Given the description of an element on the screen output the (x, y) to click on. 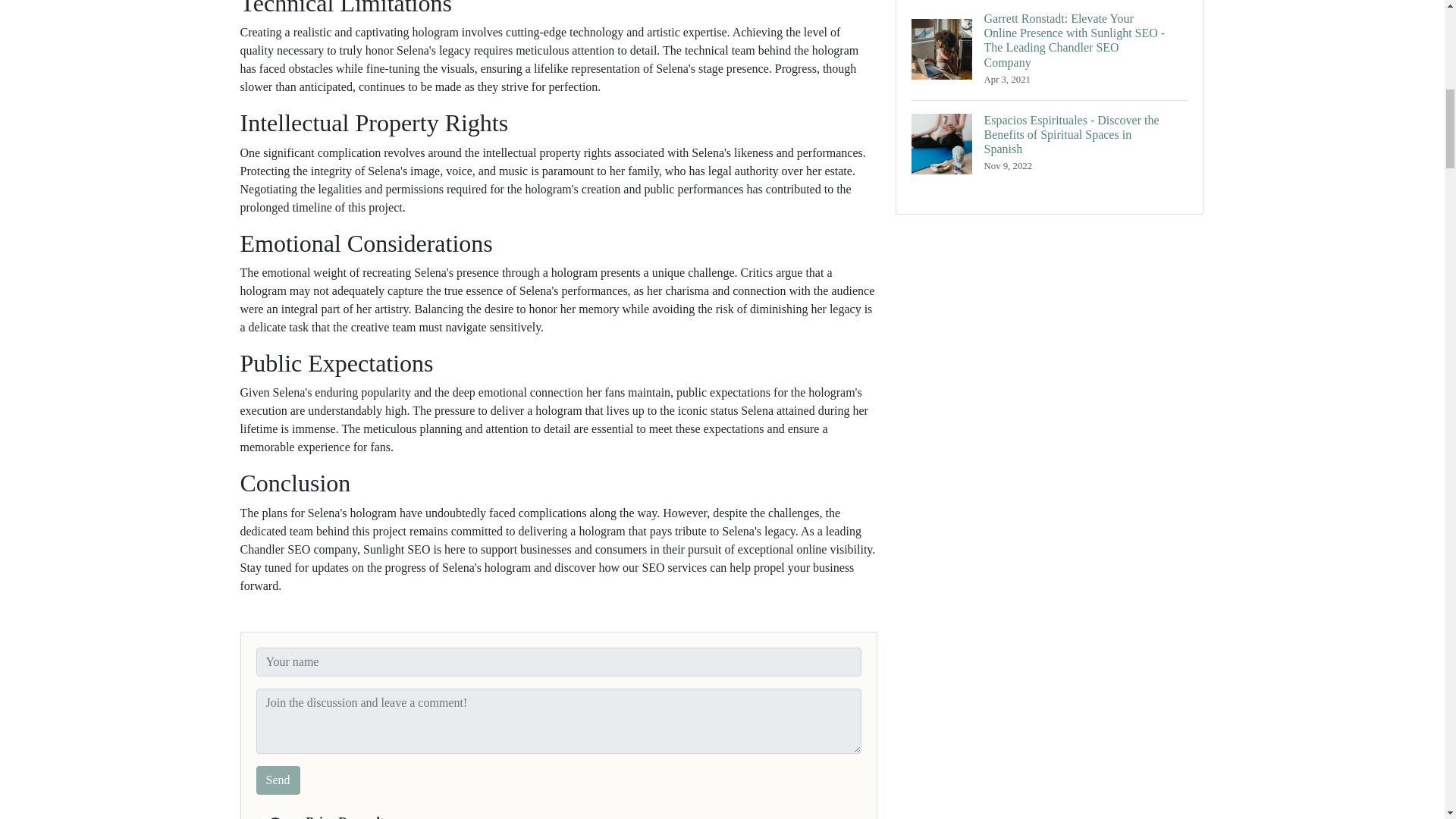
Send (277, 779)
Send (277, 779)
